Given the description of an element on the screen output the (x, y) to click on. 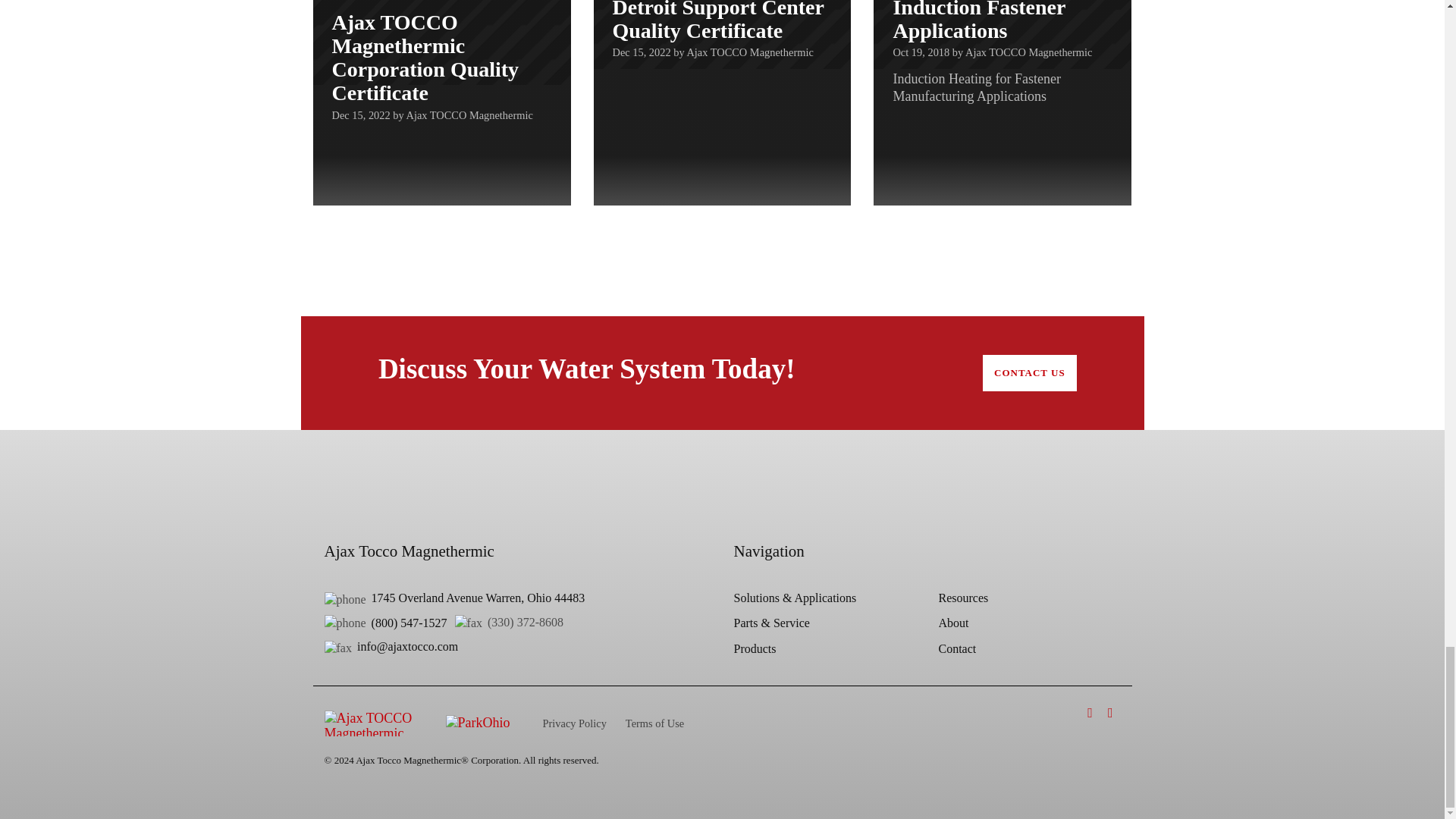
CONTACT US (1029, 372)
